Given the description of an element on the screen output the (x, y) to click on. 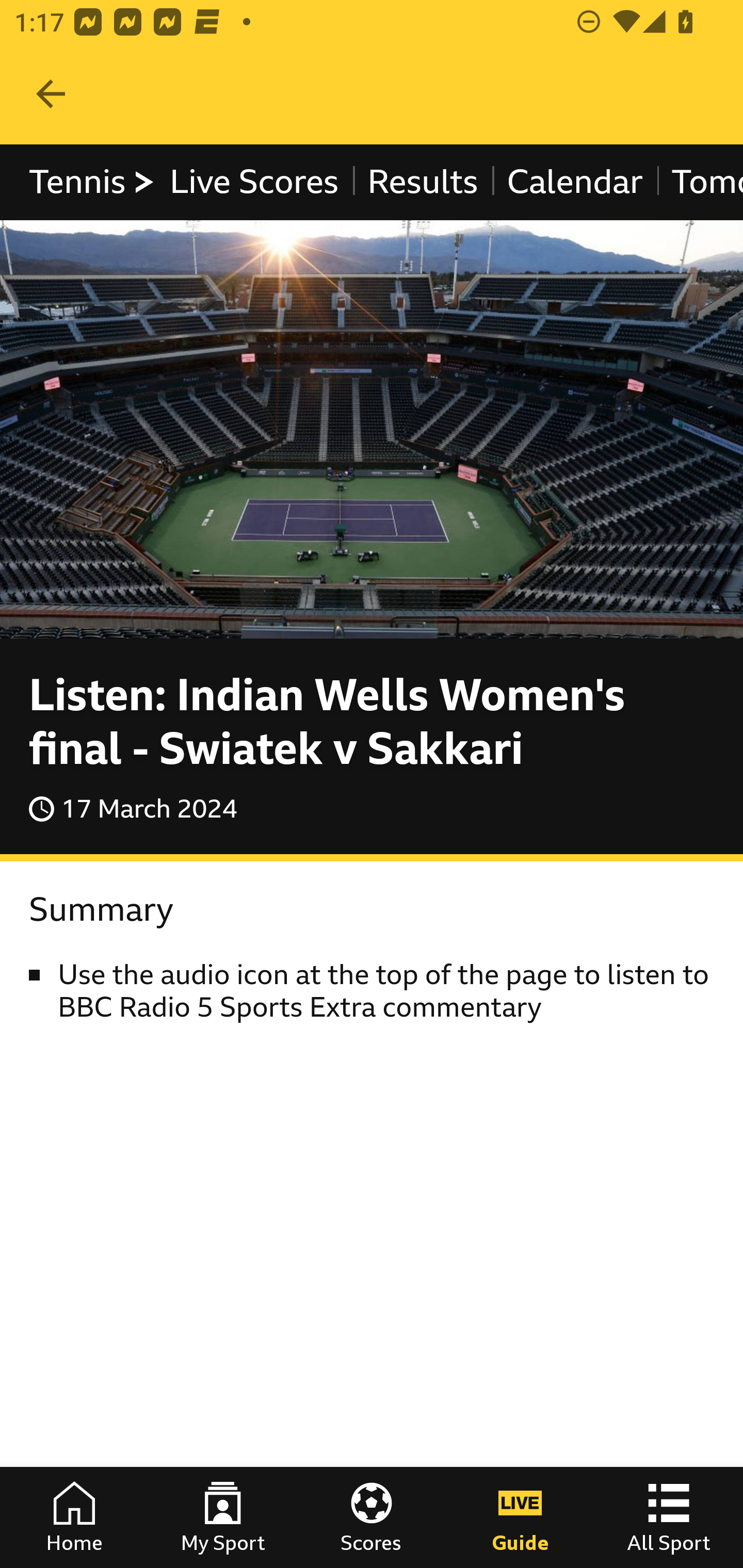
Navigate up (50, 93)
Tennis  (92, 181)
Live Scores (253, 181)
Results (422, 181)
Calendar (575, 181)
Tomorrow's Order of Play (699, 181)
Home (74, 1517)
My Sport (222, 1517)
Scores (371, 1517)
All Sport (668, 1517)
